Given the description of an element on the screen output the (x, y) to click on. 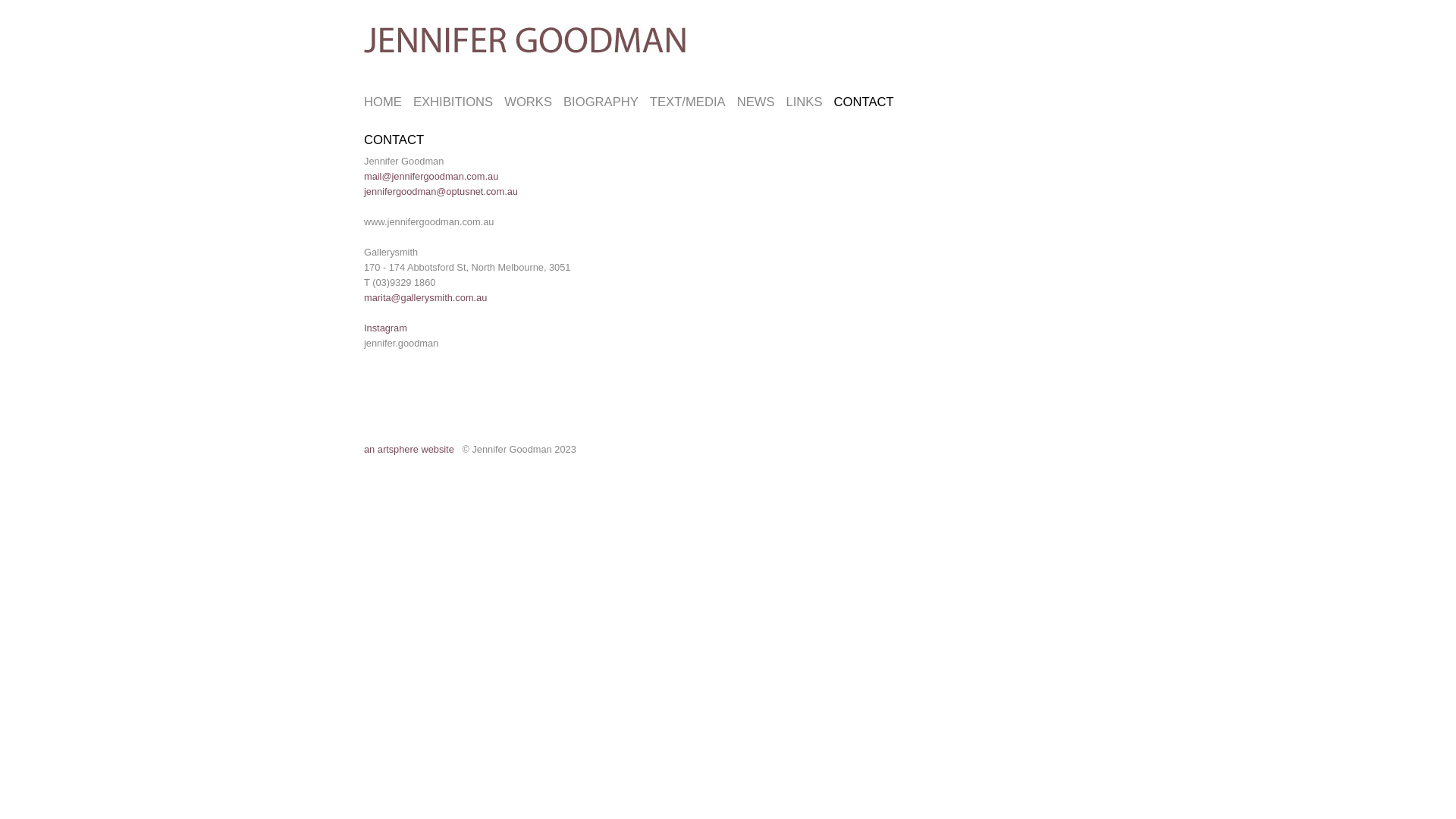
marita@gallerysmith.com.au Element type: text (425, 297)
LINKS Element type: text (803, 101)
EXHIBITIONS Element type: text (452, 101)
HOME Element type: text (382, 101)
an artsphere website Element type: text (409, 449)
WORKS Element type: text (528, 101)
BIOGRAPHY Element type: text (600, 101)
mail@jennifergoodman.com.au Element type: text (431, 176)
NEWS Element type: text (756, 101)
jennifergoodman@optusnet.com.au Element type: text (440, 191)
Instagram Element type: text (385, 327)
CONTACT Element type: text (864, 101)
TEXT/MEDIA Element type: text (687, 101)
